Given the description of an element on the screen output the (x, y) to click on. 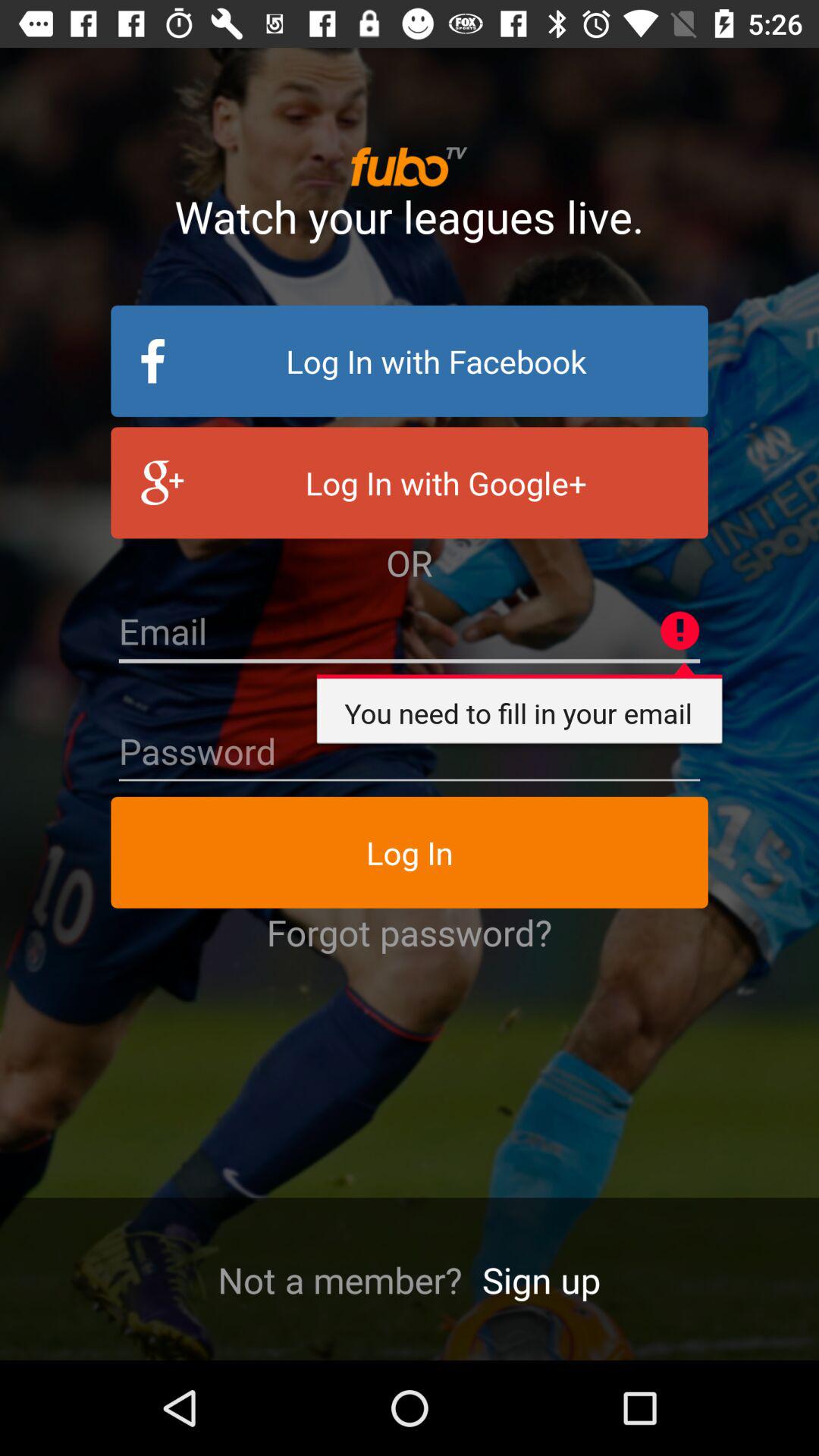
launch the icon below log in (409, 932)
